Given the description of an element on the screen output the (x, y) to click on. 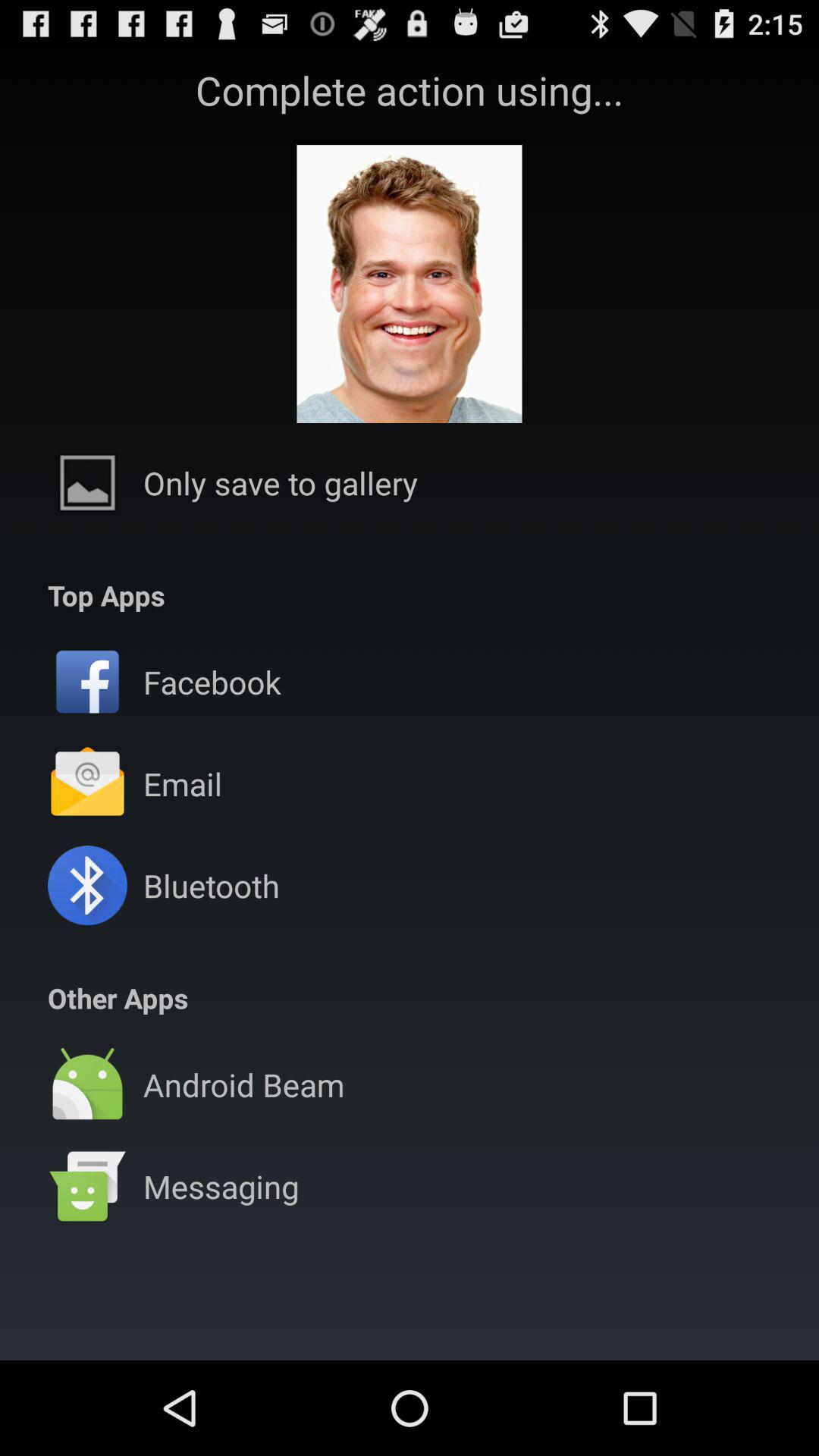
swipe to the other apps (117, 997)
